Given the description of an element on the screen output the (x, y) to click on. 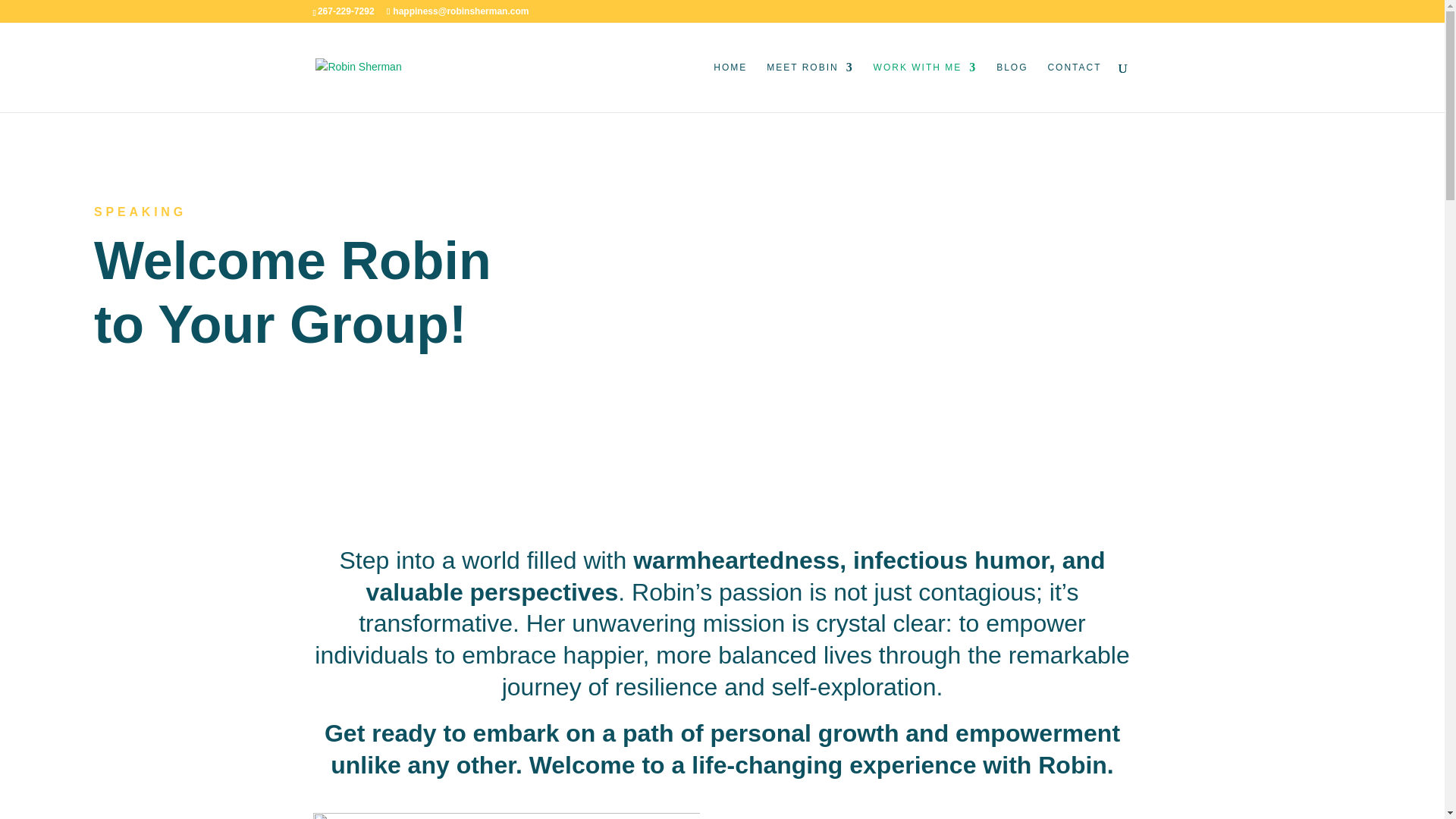
WORK WITH ME (924, 87)
RobinMirror (505, 816)
MEET ROBIN (810, 87)
CONTACT (1073, 87)
